Given the description of an element on the screen output the (x, y) to click on. 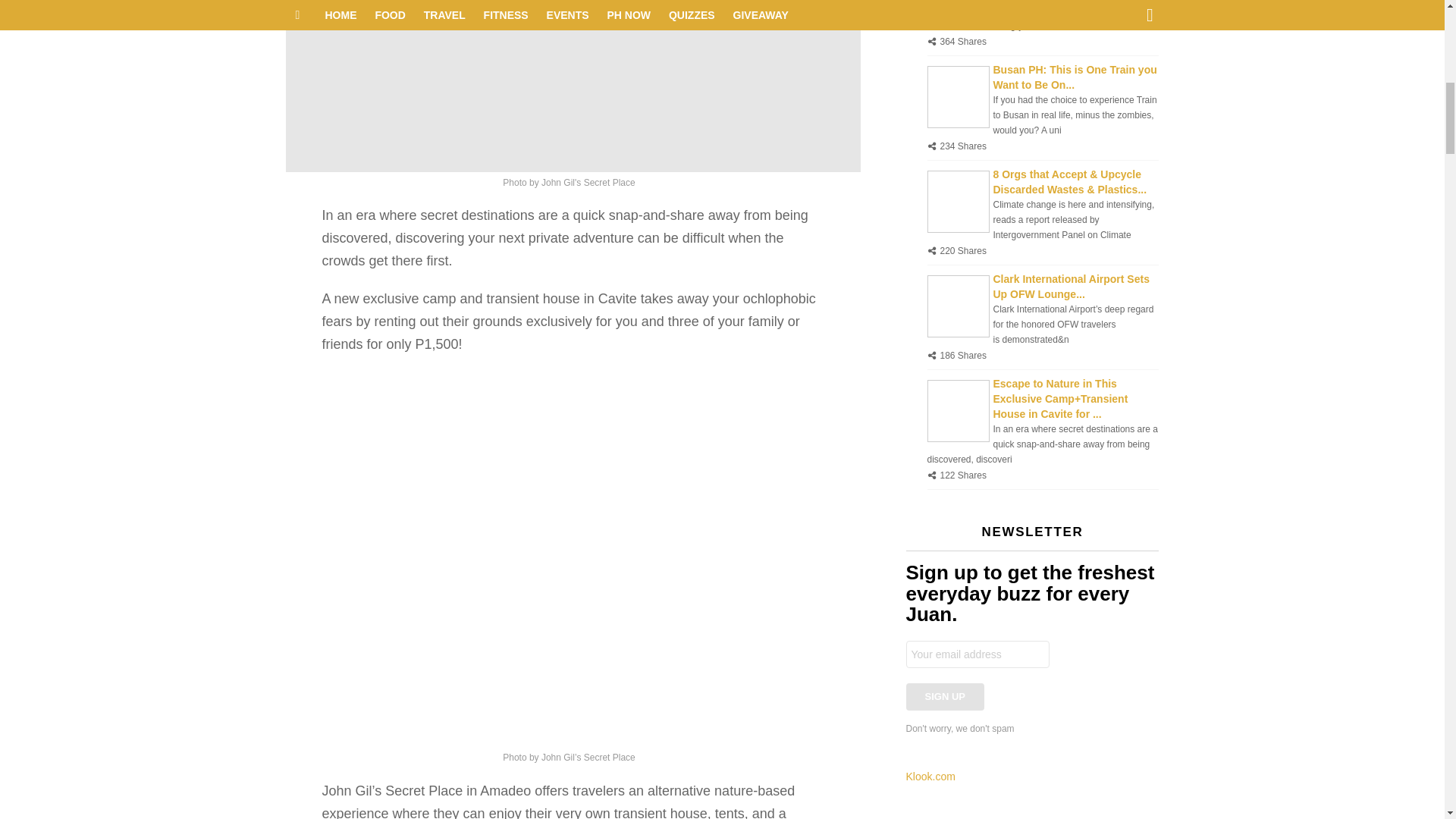
Sign up (944, 696)
